Given the description of an element on the screen output the (x, y) to click on. 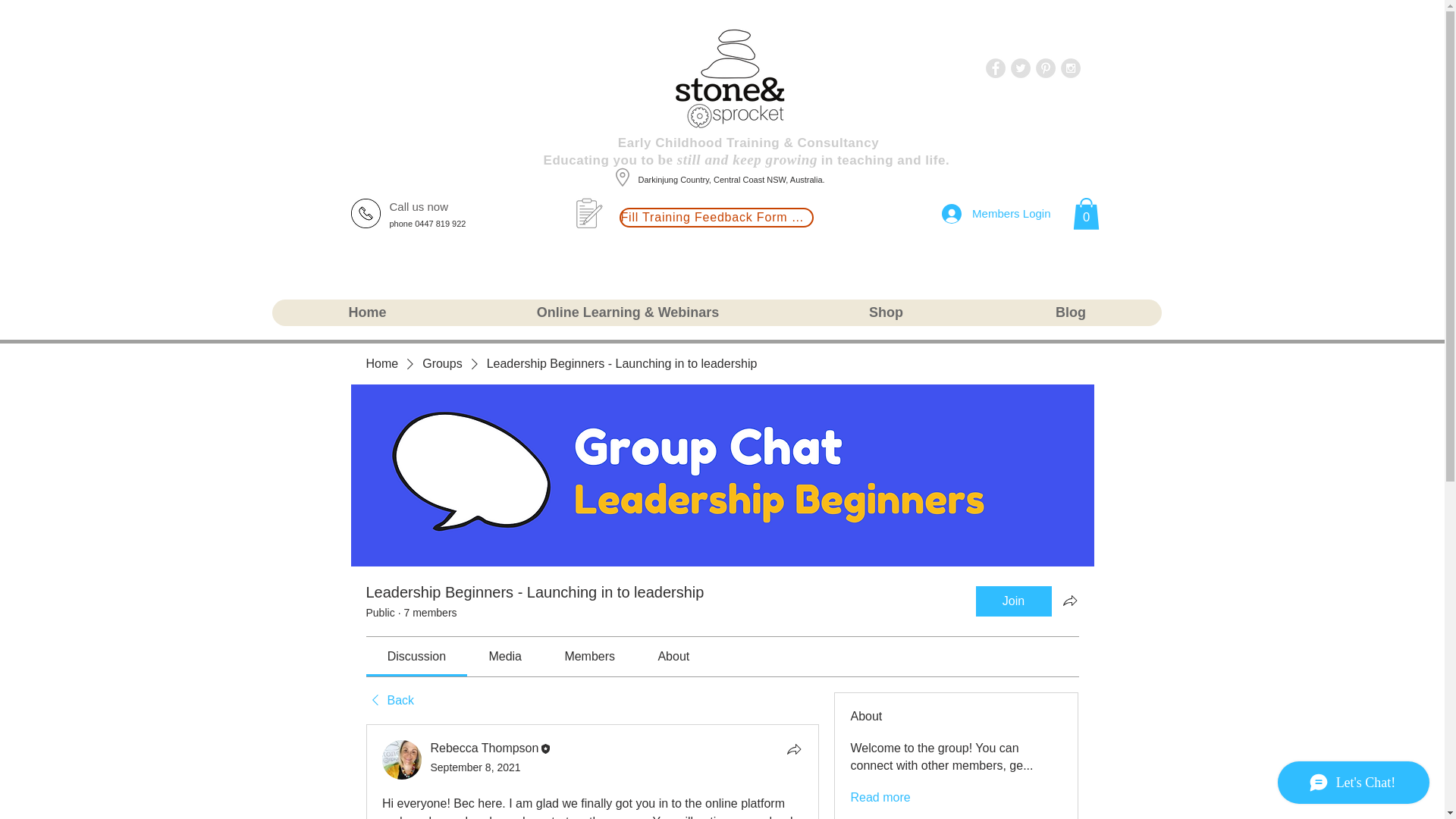
Home (366, 312)
Rebecca Thompson (484, 748)
Groups (441, 363)
Fill Training Feedback Form Here (715, 217)
Back (389, 700)
Read more (880, 797)
September 8, 2021 (475, 767)
Home (381, 363)
Shop (885, 312)
Members Login (996, 213)
Blog (1070, 312)
Join (1013, 601)
Rebecca Thompson (401, 759)
